Given the description of an element on the screen output the (x, y) to click on. 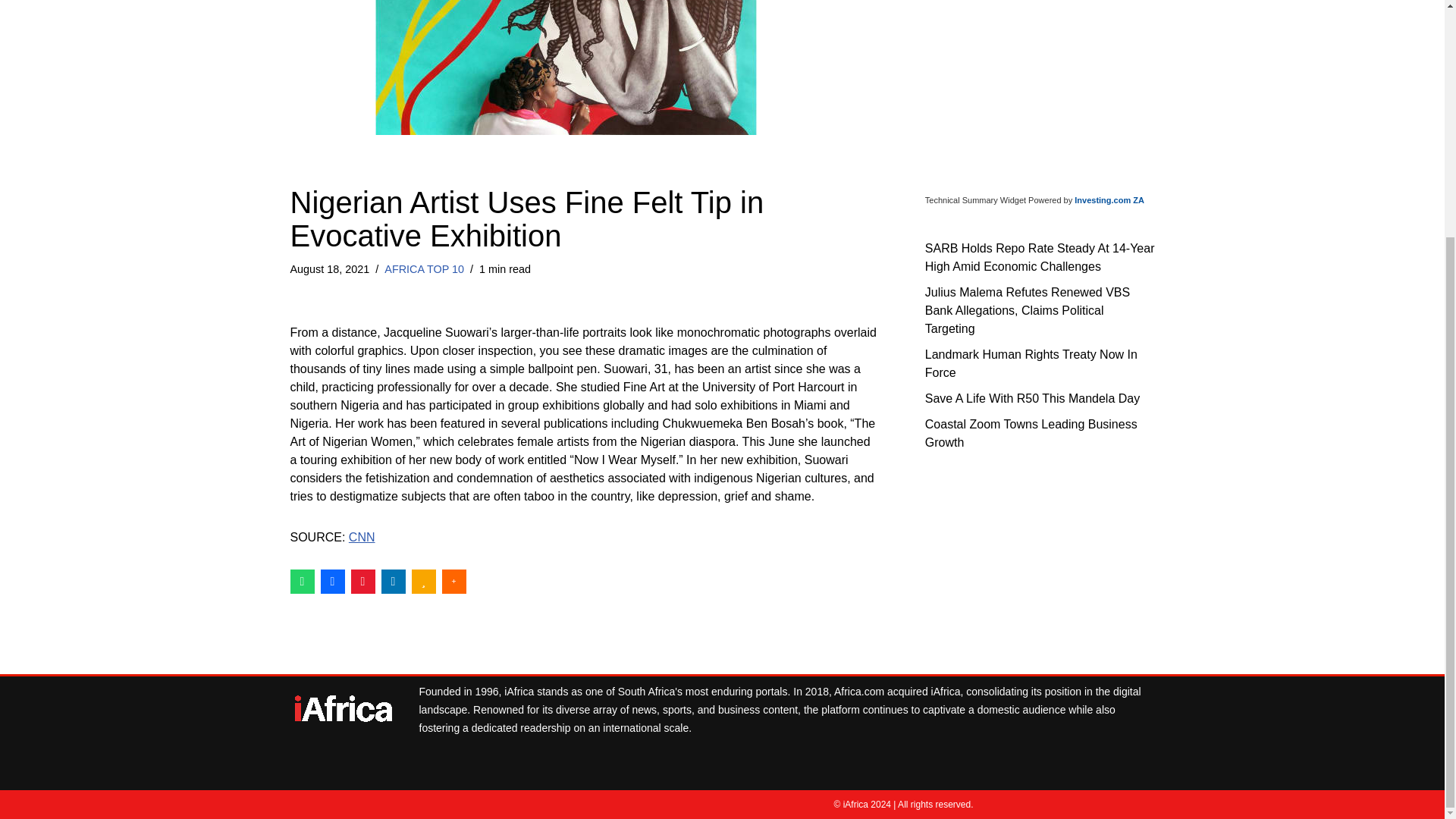
Save A Life With R50 This Mandela Day (1032, 397)
Share this on Facebook (331, 580)
Coastal Zoom Towns Leading Business Growth (1030, 431)
Add to favorites (422, 580)
Landmark Human Rights Treaty Now In Force (1030, 362)
WhatsApp (301, 580)
AFRICA TOP 10 (424, 268)
Add this to LinkedIn (392, 580)
Convert to PDF (362, 580)
More share links (453, 580)
Investing.com ZA (1109, 199)
CNN (362, 536)
